Given the description of an element on the screen output the (x, y) to click on. 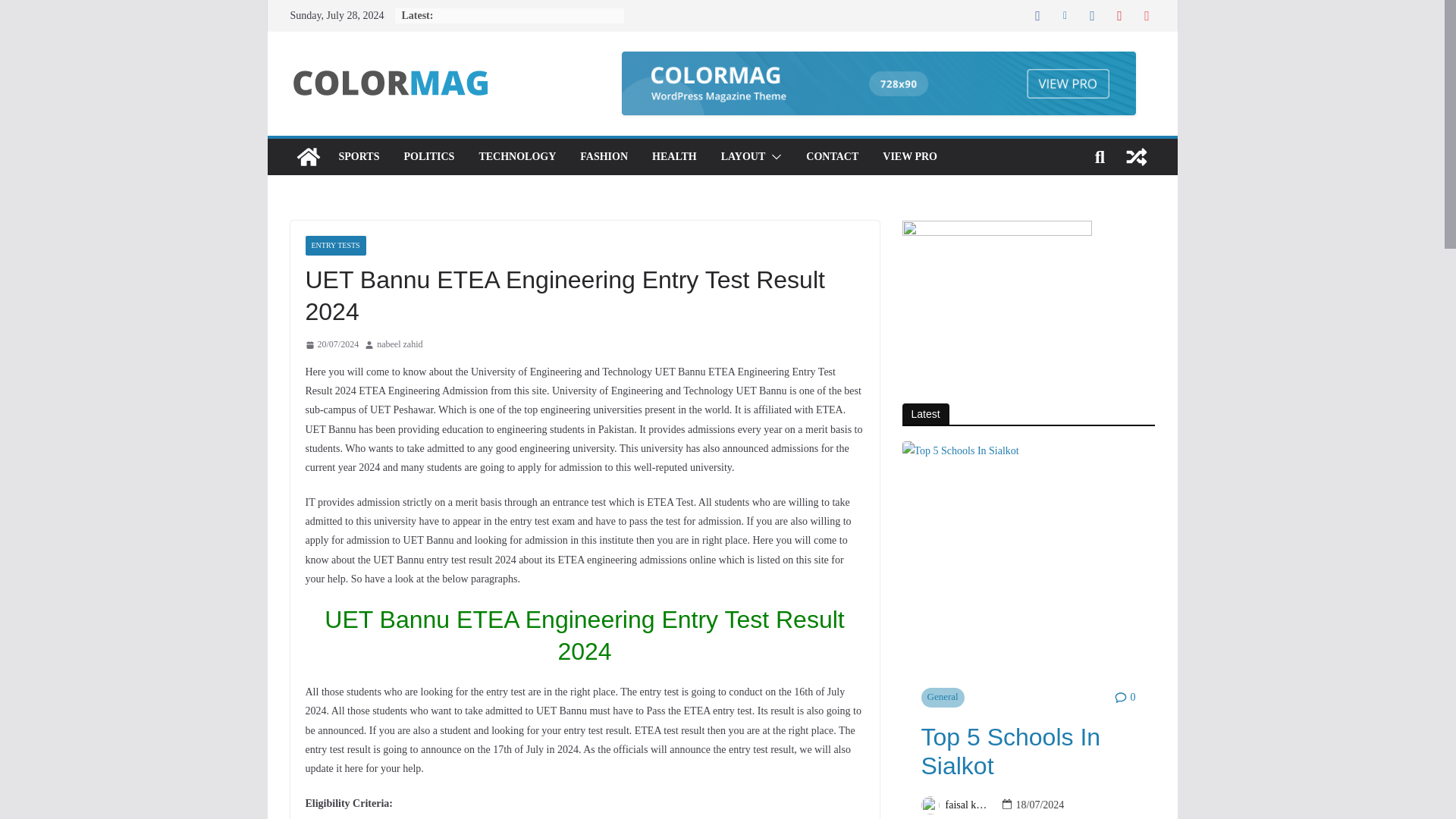
ColorMag 02 (307, 156)
10:50 am (331, 344)
Posts by faisal khan (967, 804)
nabeel zahid (399, 344)
TECHNOLOGY (517, 156)
POLITICS (428, 156)
LAYOUT (742, 156)
FASHION (603, 156)
ENTRY TESTS (334, 245)
View a random post (1136, 156)
CONTACT (832, 156)
VIEW PRO (909, 156)
HEALTH (674, 156)
nabeel zahid (399, 344)
SPORTS (357, 156)
